Given the description of an element on the screen output the (x, y) to click on. 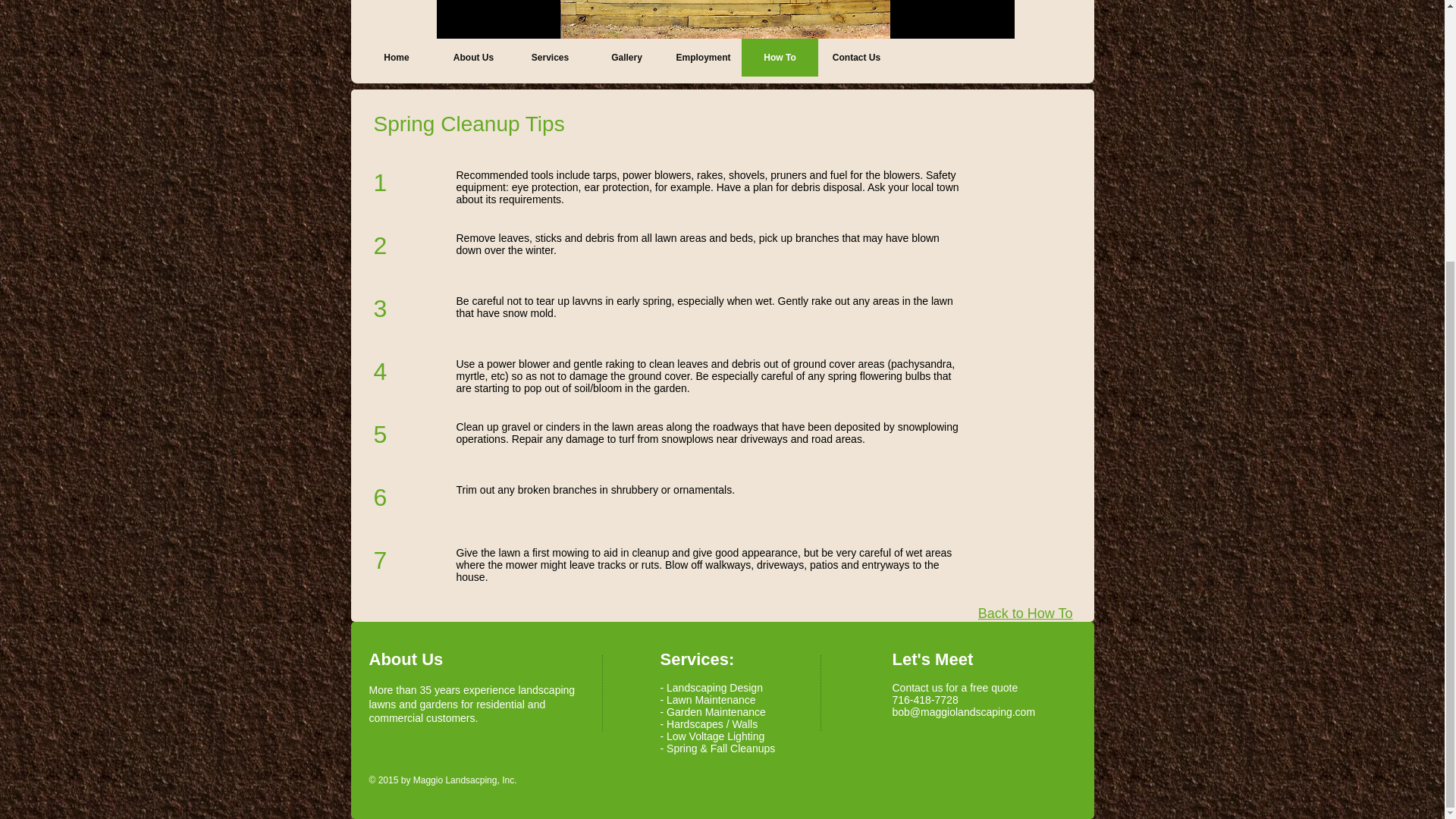
Services (549, 57)
Employment (702, 57)
Back to How To (1025, 613)
Home (395, 57)
About Us (473, 57)
Contact Us (854, 57)
How To (779, 57)
Gallery (626, 57)
